Given the description of an element on the screen output the (x, y) to click on. 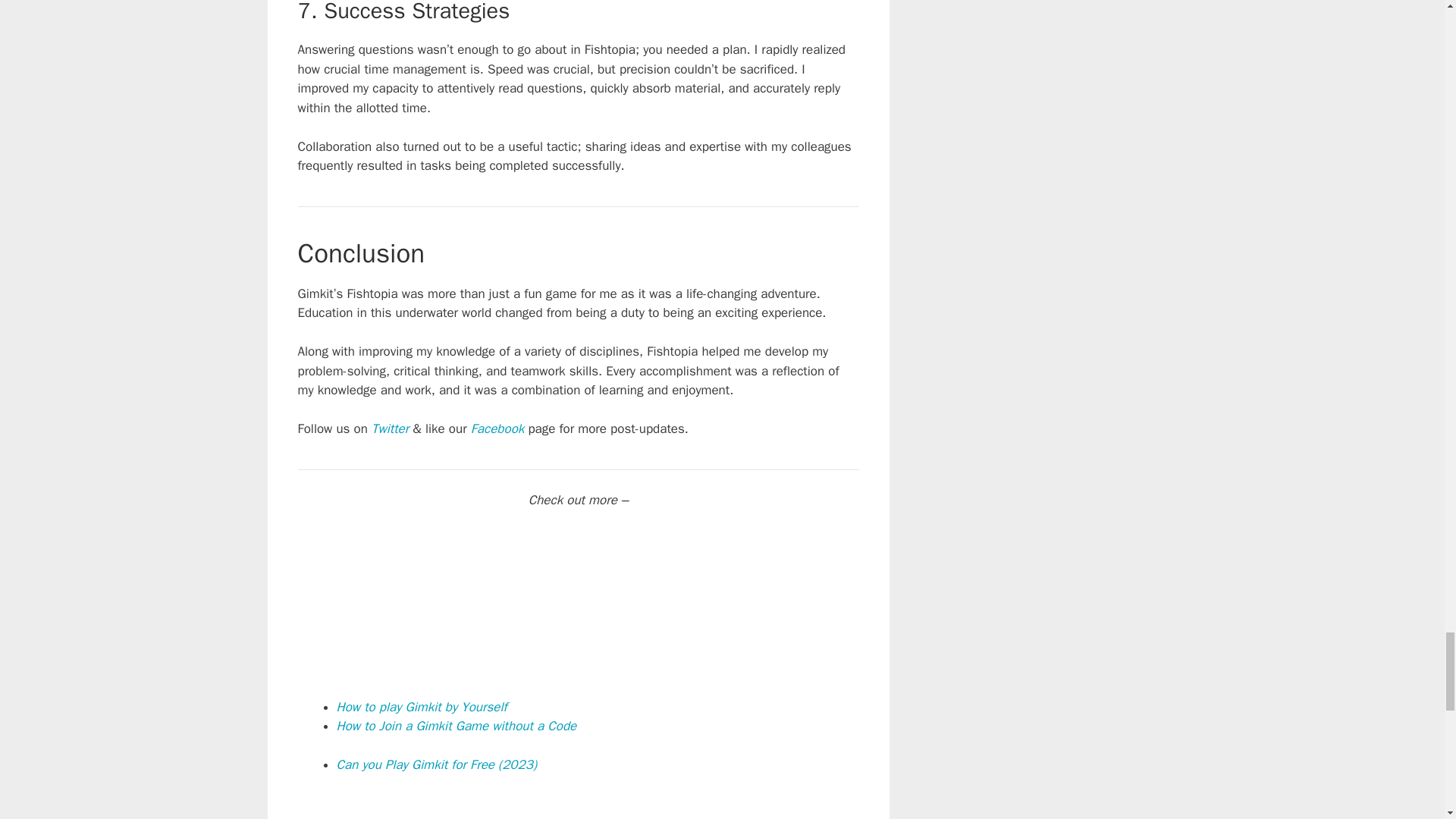
Facebook (497, 428)
How to play Gimkit by Yourself (421, 706)
Twitter (390, 428)
